Given the description of an element on the screen output the (x, y) to click on. 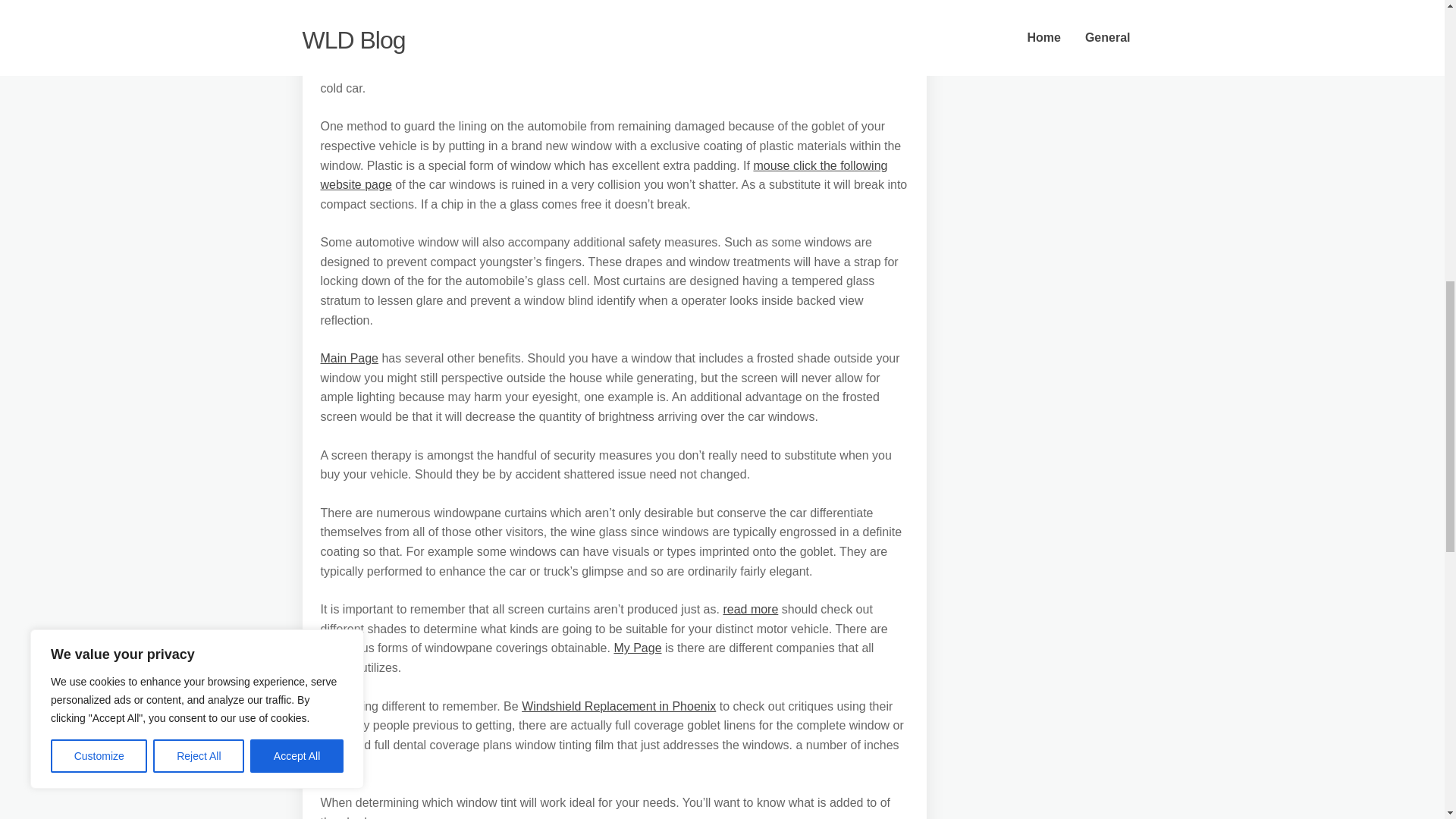
read more (749, 608)
Main Page (349, 358)
My Page (636, 647)
Windshield Replacement in Phoenix (618, 706)
mouse click the following website page (603, 174)
